Given the description of an element on the screen output the (x, y) to click on. 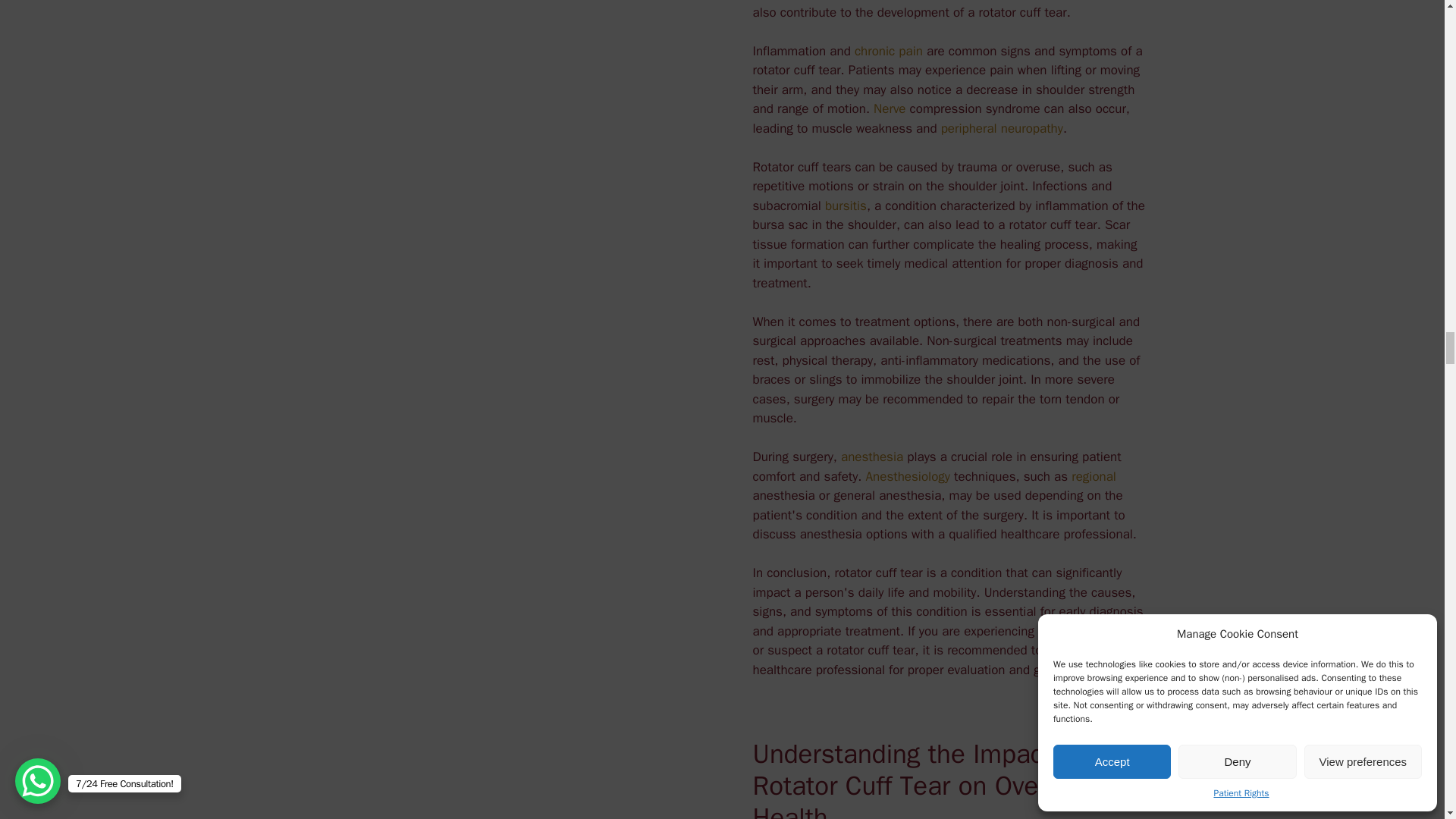
bursitis (845, 205)
